Given the description of an element on the screen output the (x, y) to click on. 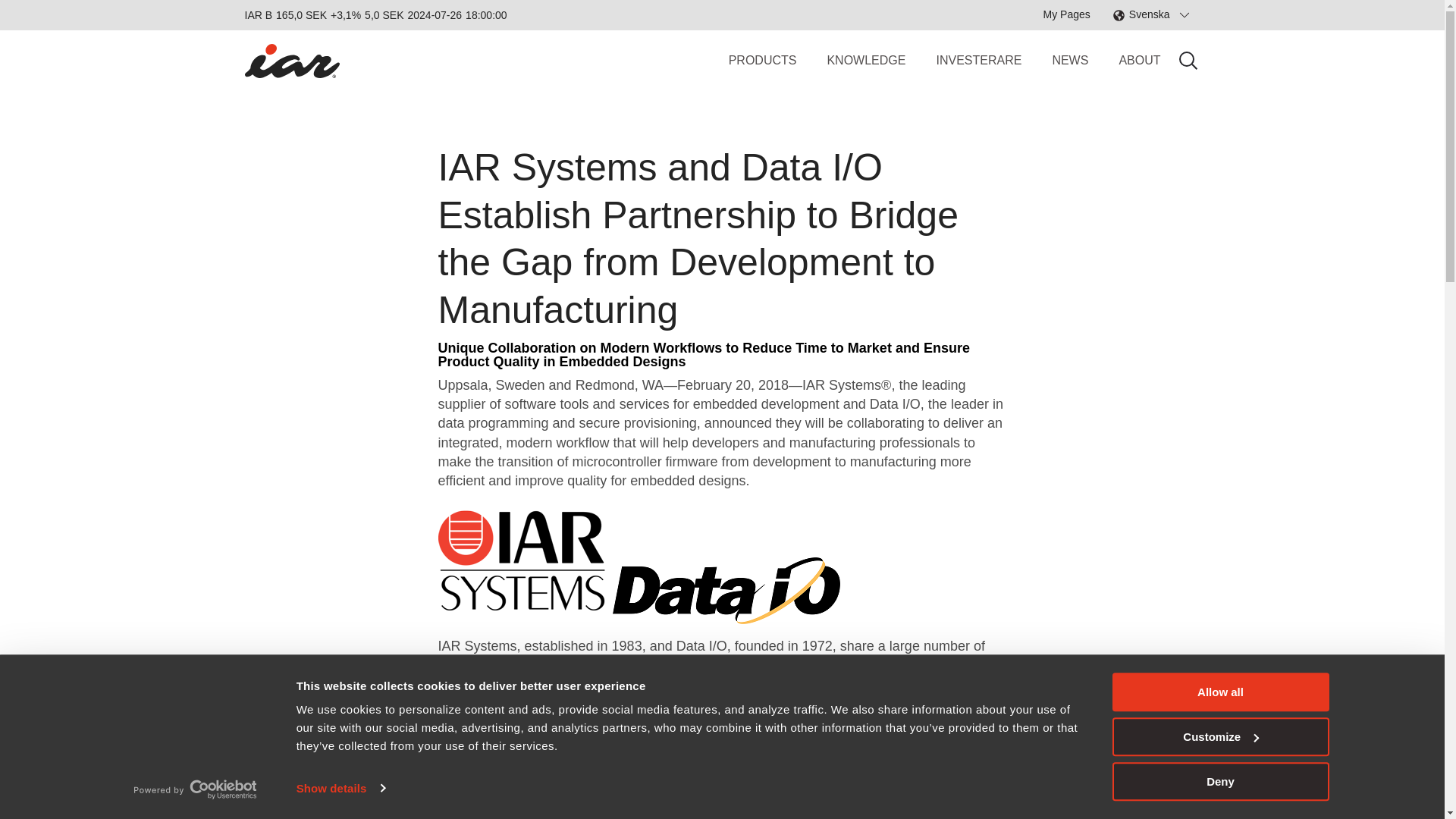
Show details (340, 787)
